Given the description of an element on the screen output the (x, y) to click on. 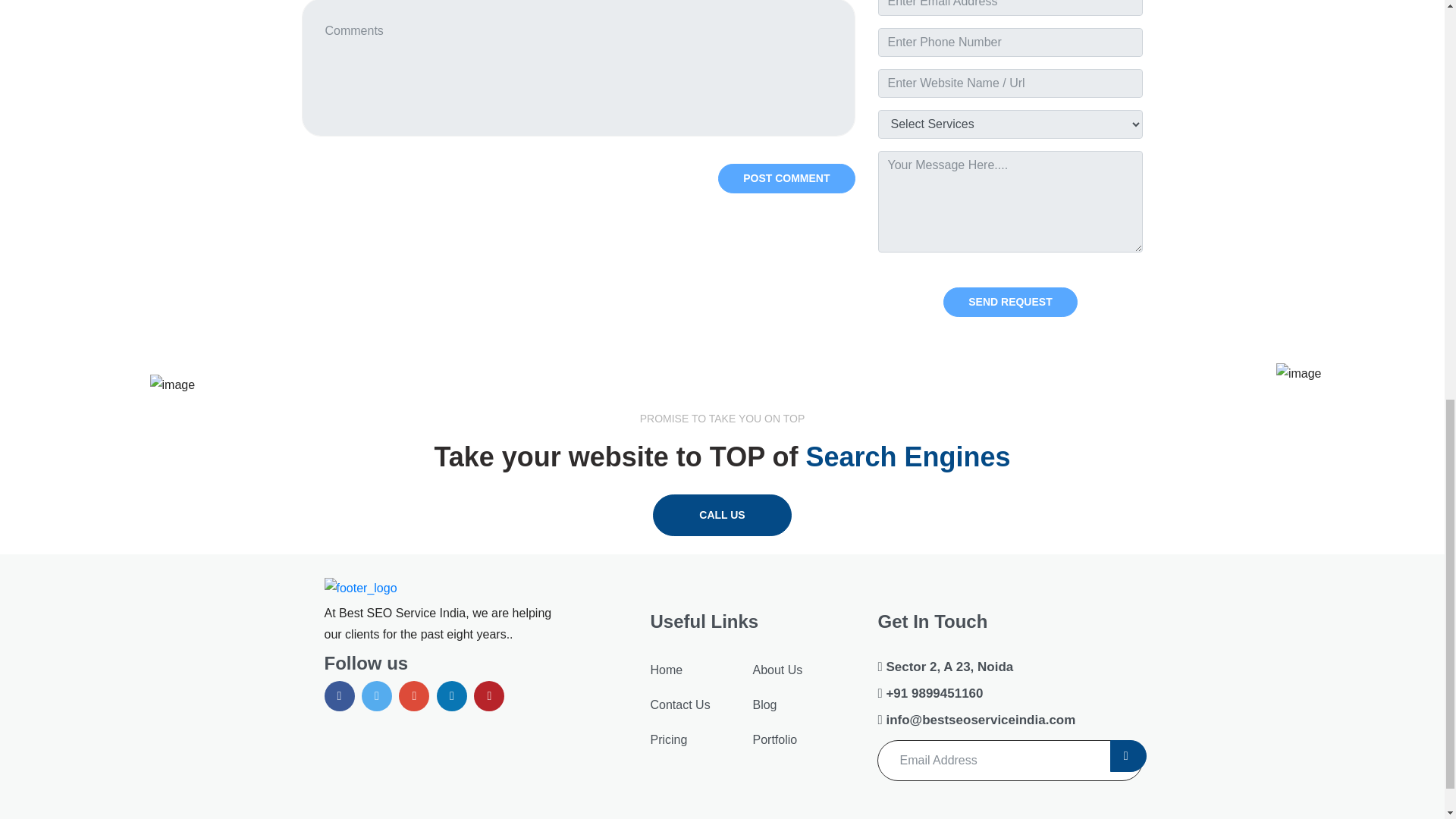
CALL US (721, 515)
Contact Us (679, 704)
Home (665, 669)
POST COMMENT (785, 178)
Please enter exactly 10 digits (1009, 41)
SEND REQUEST (1010, 301)
